Given the description of an element on the screen output the (x, y) to click on. 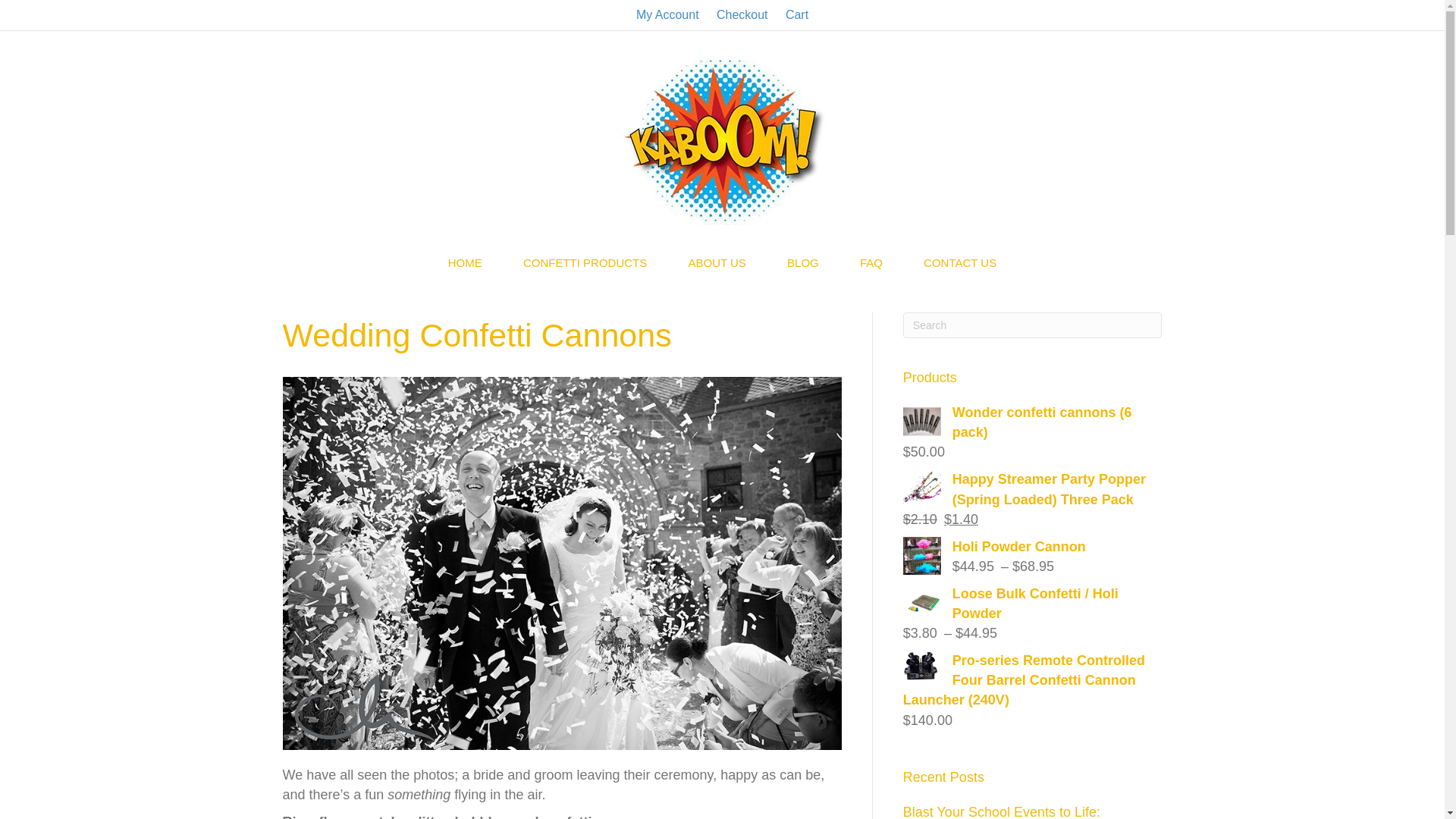
Loose Bulk Confetti / Holi Powder Element type: text (1032, 603)
Holi Powder Cannon Element type: text (1032, 546)
HOME Element type: text (465, 262)
My Account Element type: text (667, 15)
FAQ Element type: text (870, 262)
Wonder confetti cannons (6 pack) Element type: text (1032, 422)
Type and press Enter to search. Element type: hover (1032, 325)
Happy Streamer Party Popper (Spring Loaded) Three Pack Element type: text (1032, 488)
CONFETTI PRODUCTS Element type: text (584, 262)
Wedding Confetti Cannons | Australia | Kaboom Confetti Element type: hover (561, 562)
ABOUT US Element type: text (716, 262)
CONTACT US Element type: text (959, 262)
Checkout Element type: text (742, 15)
BLOG Element type: text (802, 262)
Cart Element type: text (796, 15)
